Given the description of an element on the screen output the (x, y) to click on. 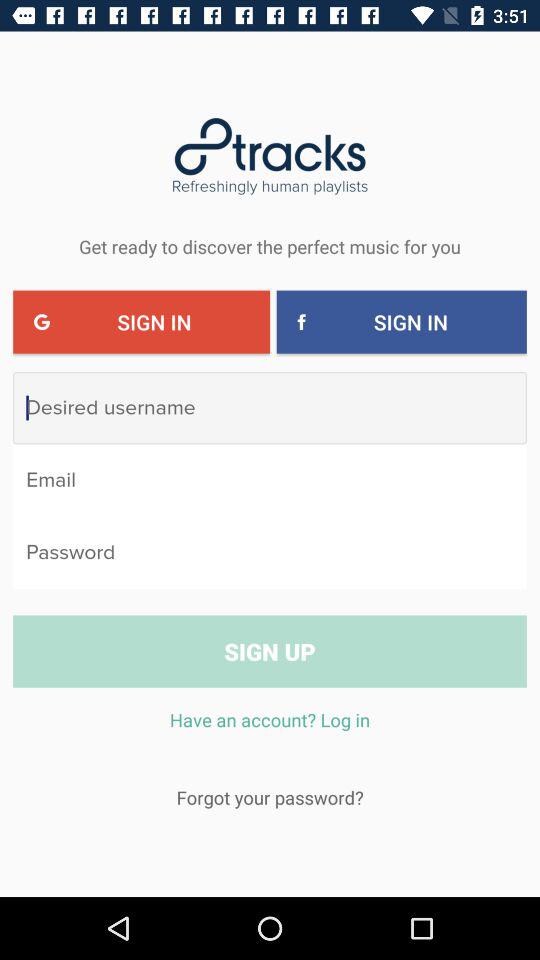
write email (269, 480)
